Given the description of an element on the screen output the (x, y) to click on. 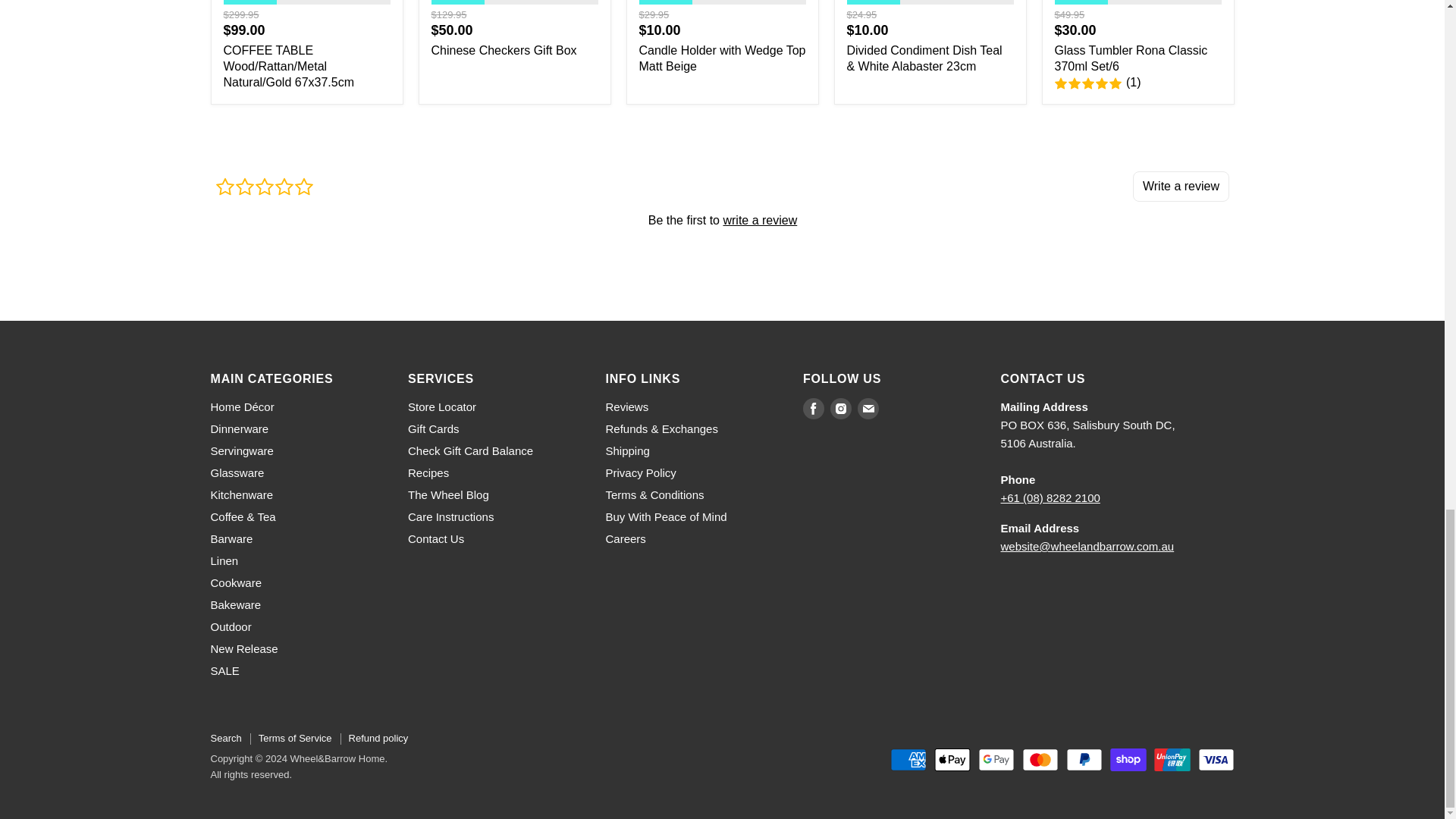
Email (868, 408)
tel:0882822100 (1050, 497)
Instagram (840, 408)
Facebook (813, 408)
Product reviews widget (722, 219)
